Given the description of an element on the screen output the (x, y) to click on. 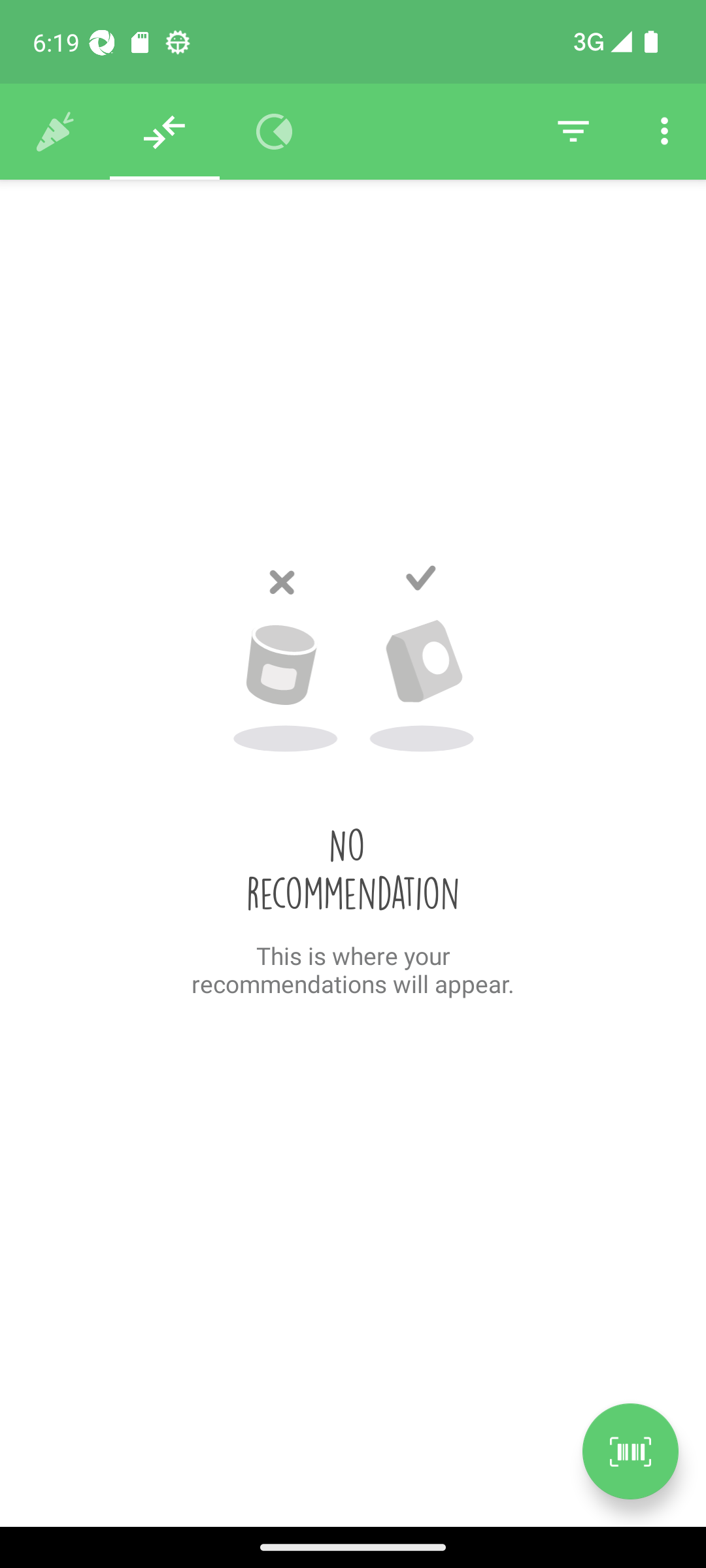
History (55, 131)
Overview (274, 131)
Filter (572, 131)
Settings (664, 131)
Scan a product (630, 1451)
